Given the description of an element on the screen output the (x, y) to click on. 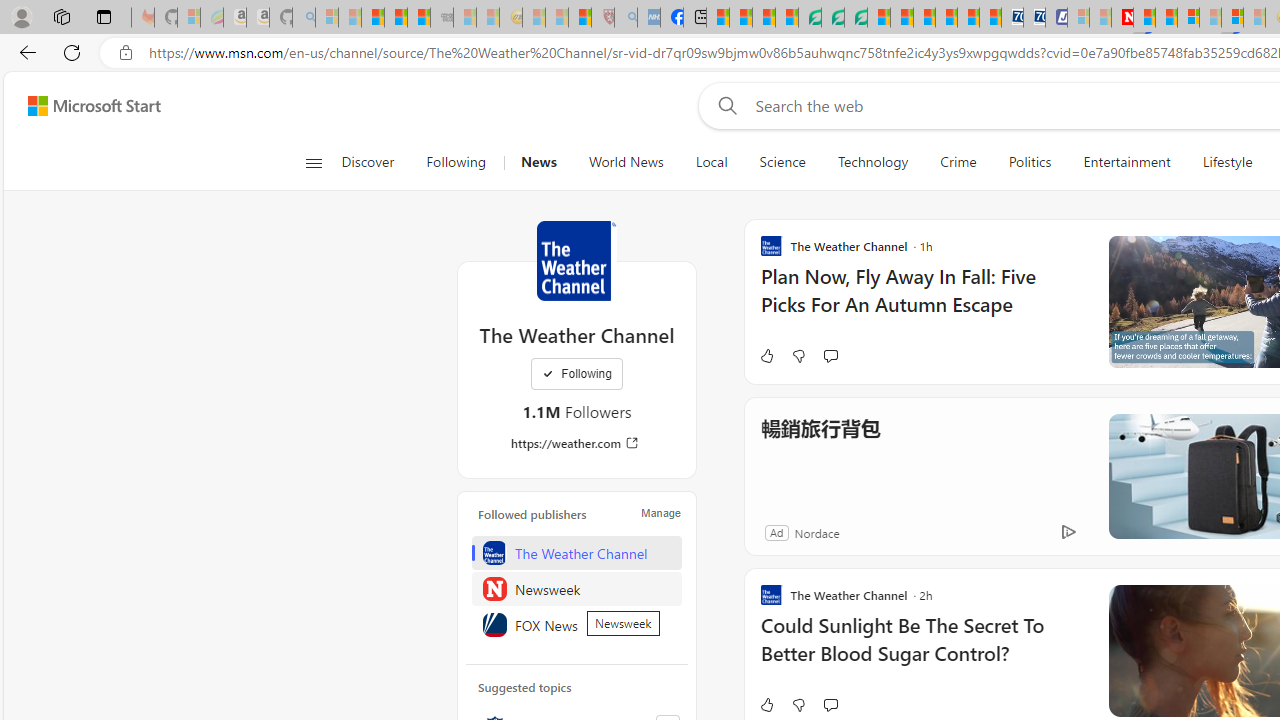
LendingTree - Compare Lenders (809, 17)
